Given the description of an element on the screen output the (x, y) to click on. 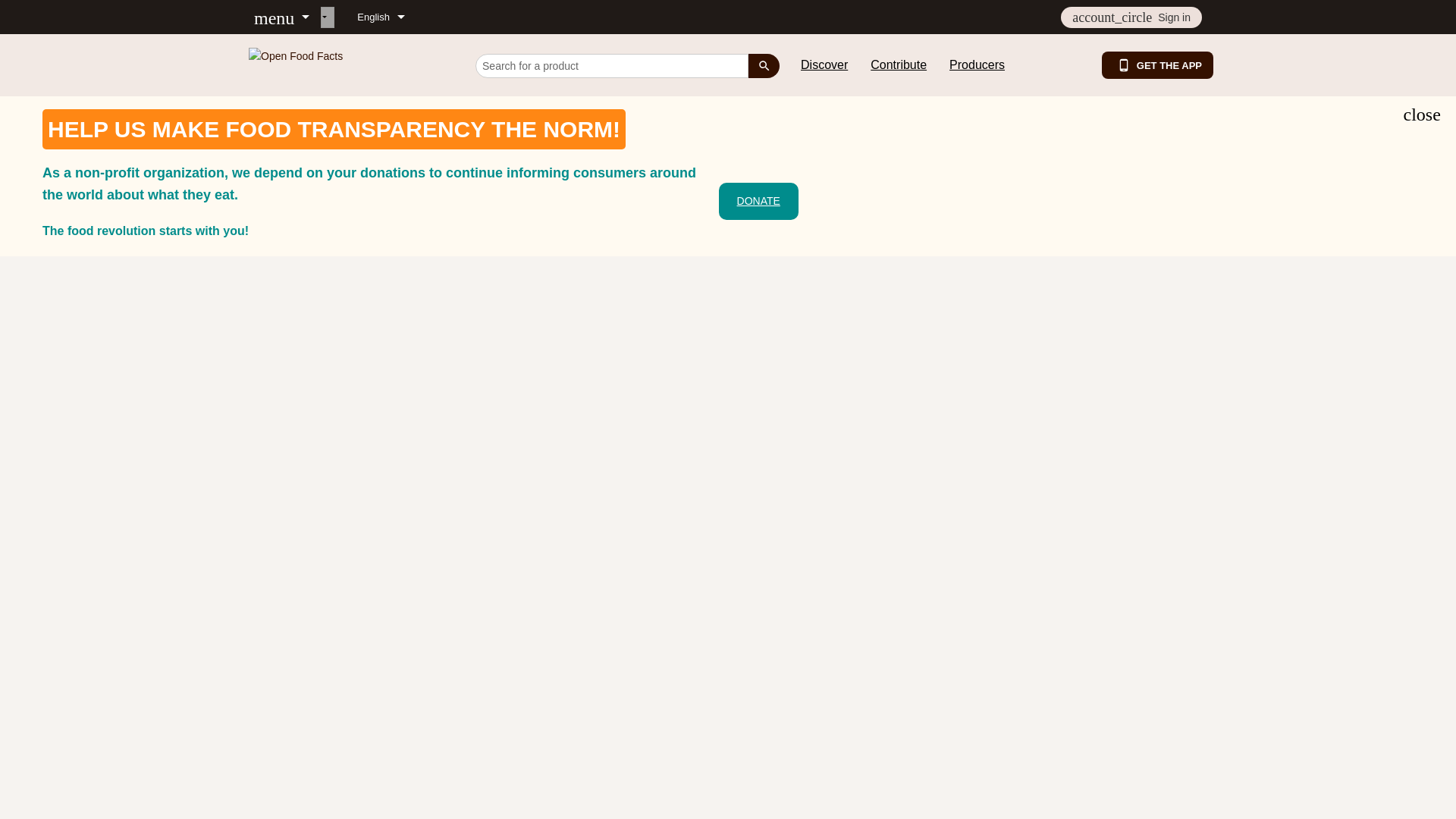
Add a product (281, 177)
Install the app to add products (281, 143)
Contribute (281, 84)
Contribute (898, 64)
menu (281, 17)
Producers (976, 64)
Advanced search (281, 236)
DONATE (758, 201)
close (1420, 114)
English (381, 17)
GET THE APP (1157, 64)
Discover (281, 50)
Graphs and maps (281, 270)
Discover (824, 64)
Search (763, 66)
